Given the description of an element on the screen output the (x, y) to click on. 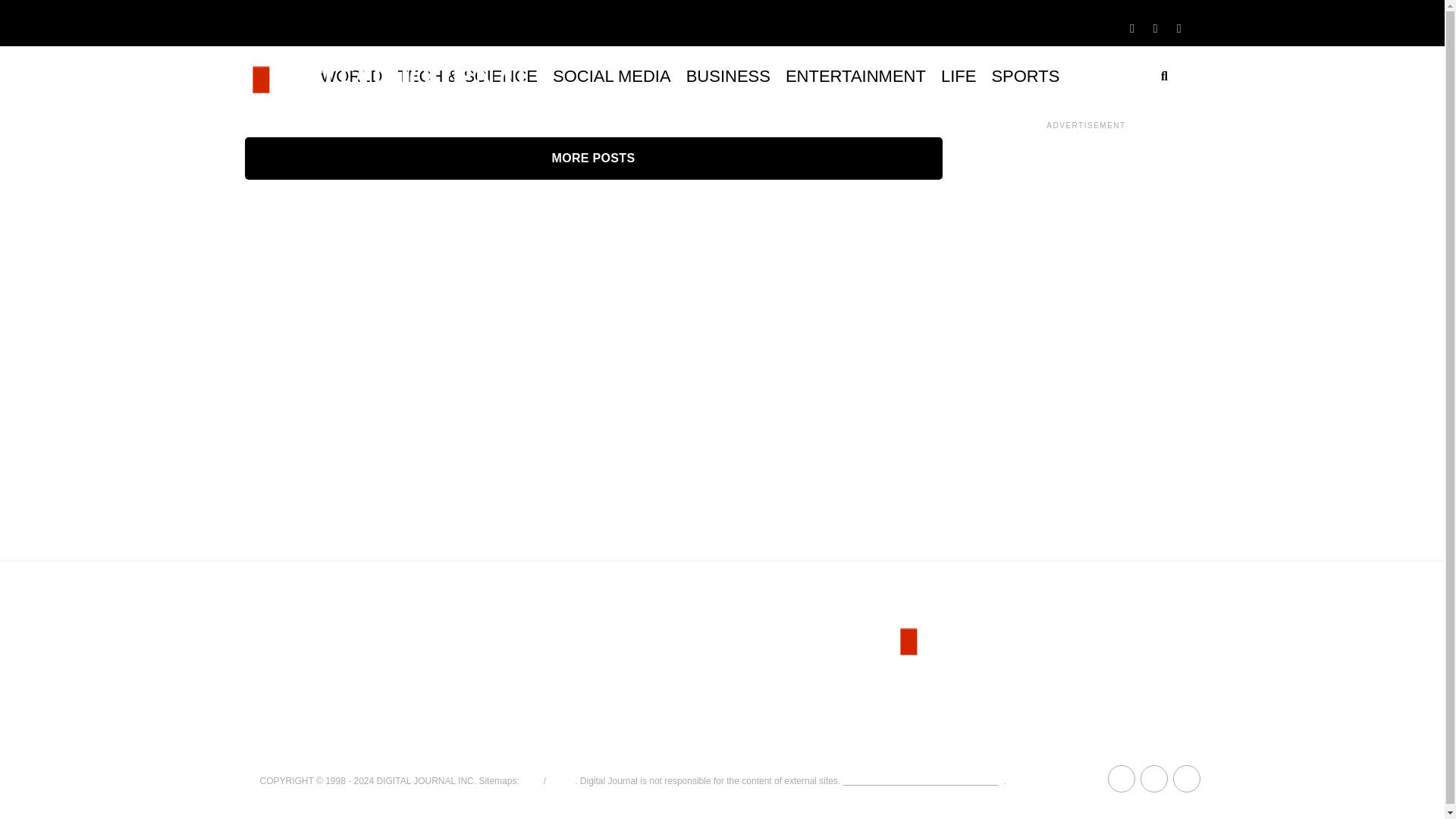
News (560, 779)
SPONSORED CONTENT (326, 675)
ABOUT US (288, 635)
MORE POSTS (593, 158)
FEATURED: PRODIGY PRESS WIRE (677, 655)
FEATURED: ACCESSWIRE (651, 635)
ALL PRESS RELEASES (641, 694)
INSIGHT FORUM (304, 655)
SOCIAL MEDIA (611, 76)
NEWS PARTNER: AFP (638, 675)
PRIVACY POLICY (307, 714)
BUSINESS (727, 76)
ENTERTAINMENT (855, 76)
SPORTS (1025, 76)
XML (530, 779)
